Given the description of an element on the screen output the (x, y) to click on. 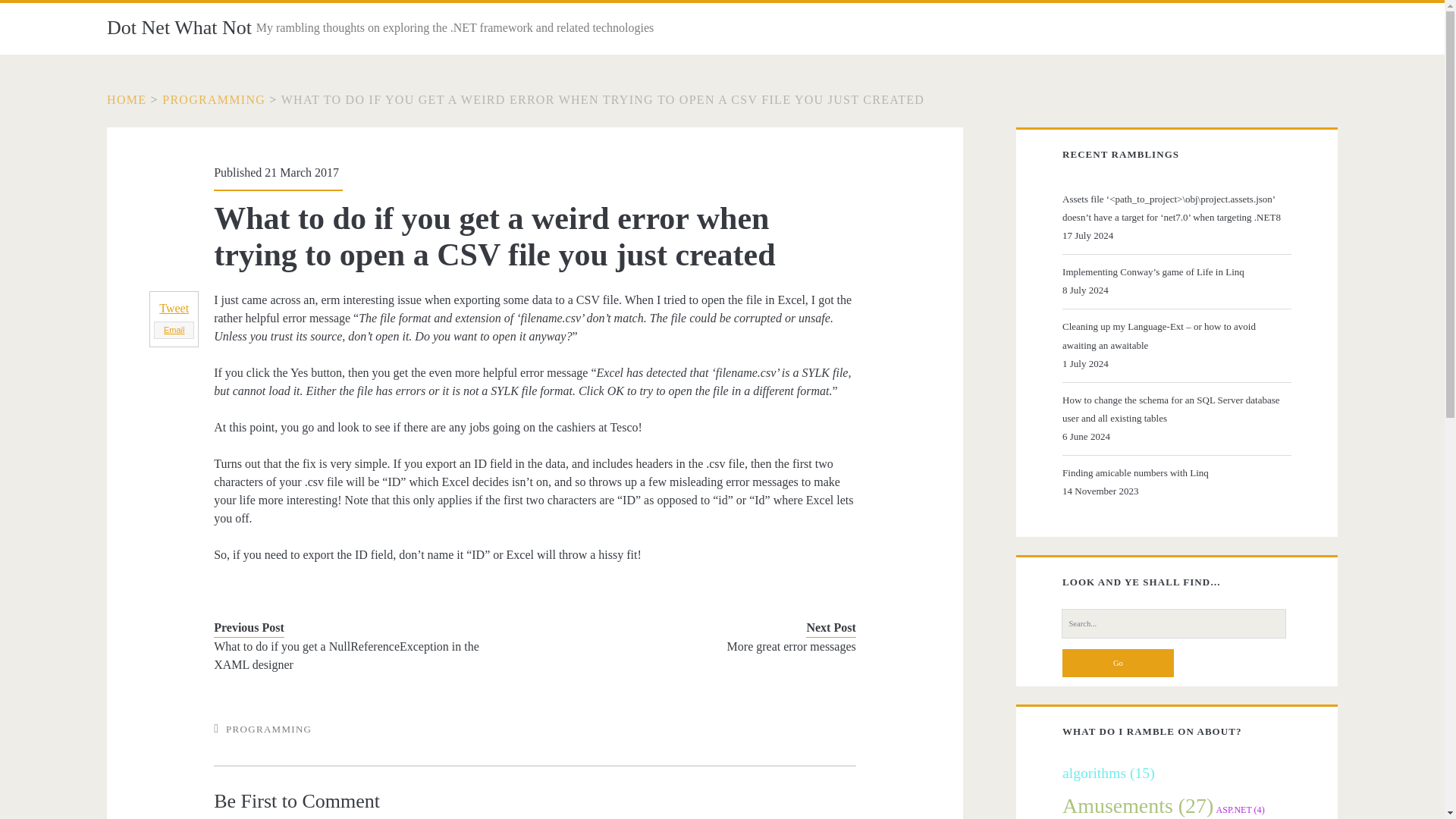
Finding amicable numbers with Linq (1174, 473)
4 topics (1240, 809)
HOME (126, 99)
More great error messages (708, 647)
Go (1117, 662)
Home (126, 99)
PROGRAMMING (268, 728)
Go (1117, 662)
Tweet (173, 308)
27 topics (1137, 805)
